Given the description of an element on the screen output the (x, y) to click on. 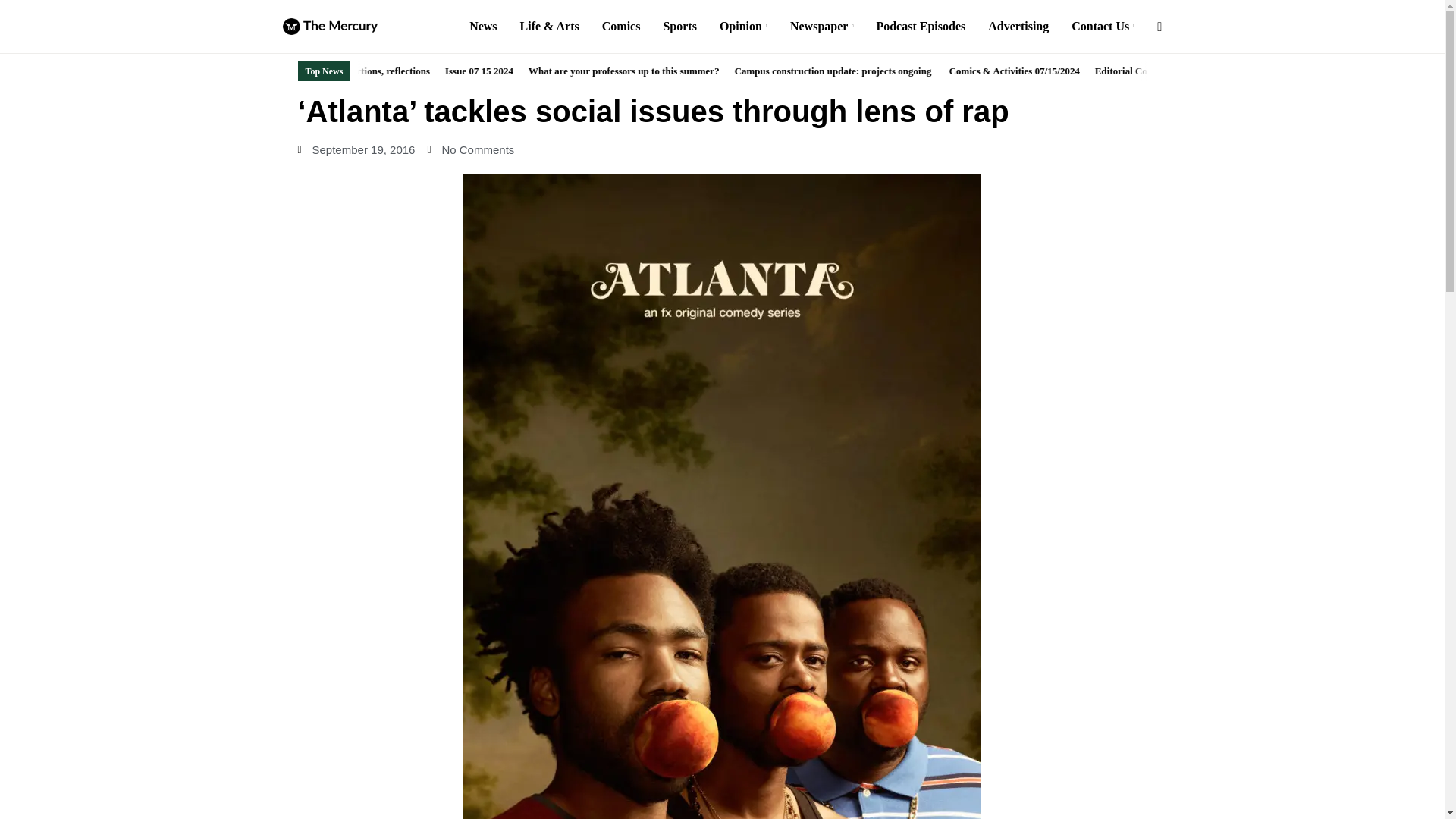
Opinion (743, 26)
Contact Us (1102, 26)
Newspaper (821, 26)
Podcast Episodes (920, 26)
Advertising (1018, 26)
